Given the description of an element on the screen output the (x, y) to click on. 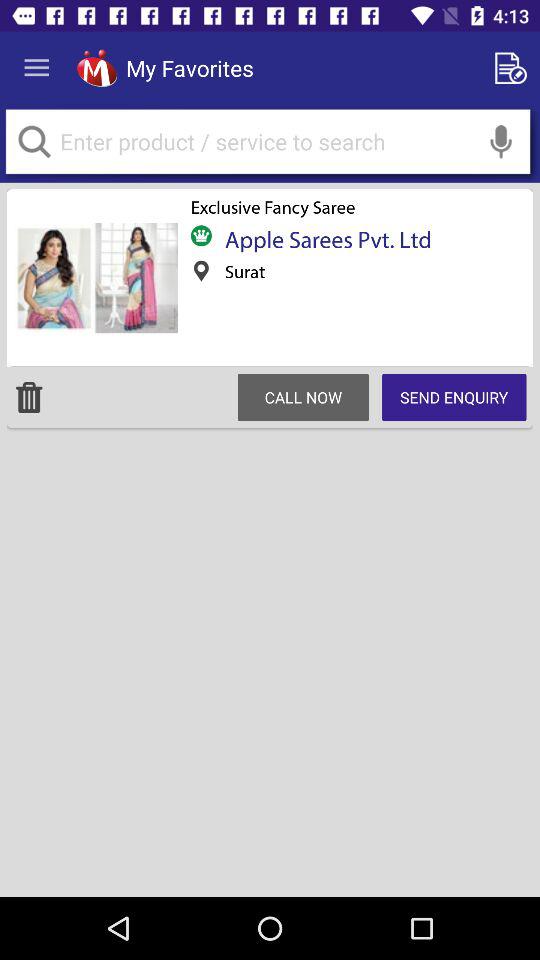
swipe to the send enquiry icon (454, 397)
